Given the description of an element on the screen output the (x, y) to click on. 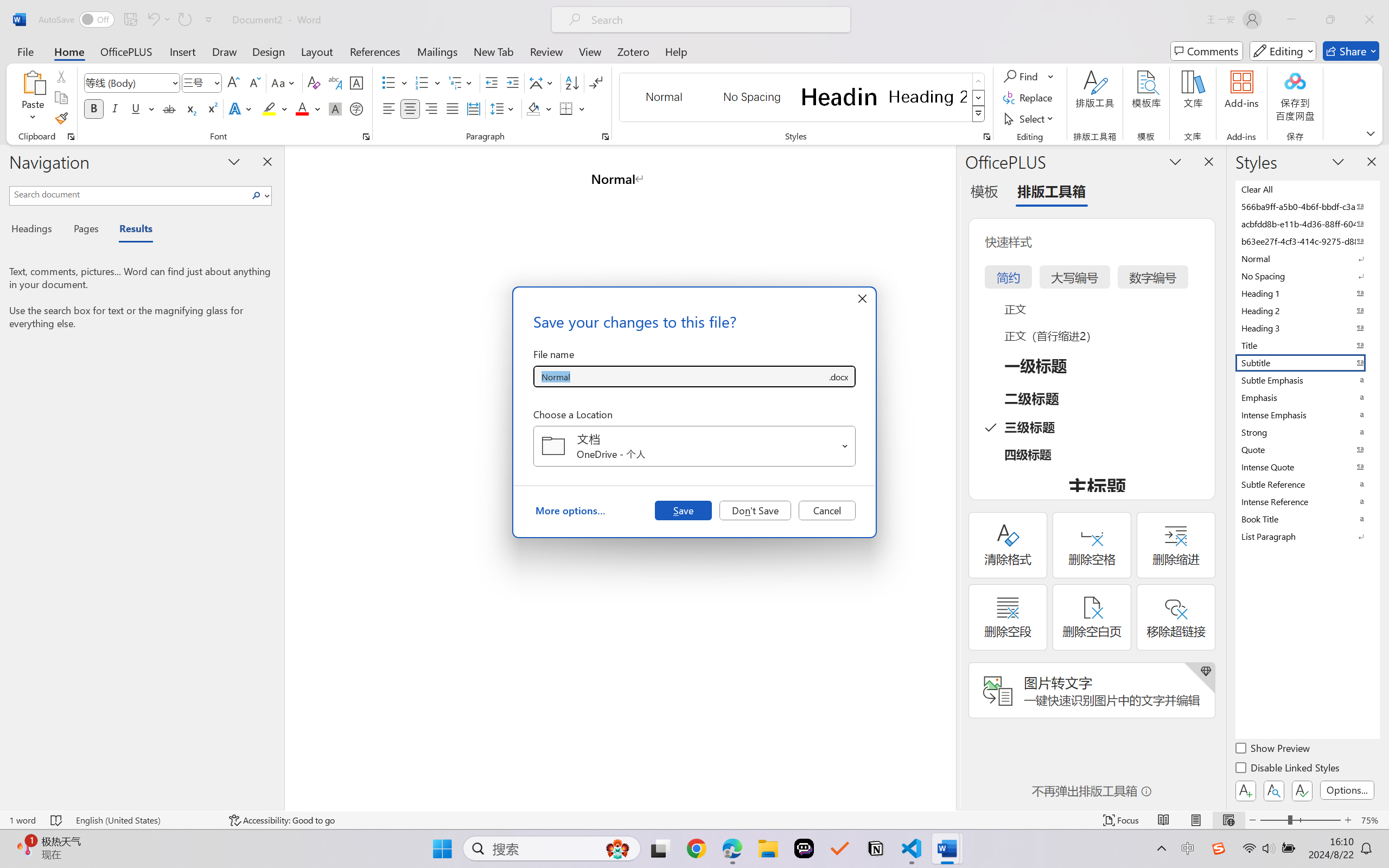
Print Layout (1196, 819)
Microsoft search (715, 19)
Styles... (986, 136)
Subtle Emphasis (1306, 379)
Increase Indent (512, 82)
Close (1369, 19)
Borders (571, 108)
Bullets (388, 82)
Customize Quick Access Toolbar (208, 19)
Read Mode (1163, 819)
Strong (1306, 431)
